Given the description of an element on the screen output the (x, y) to click on. 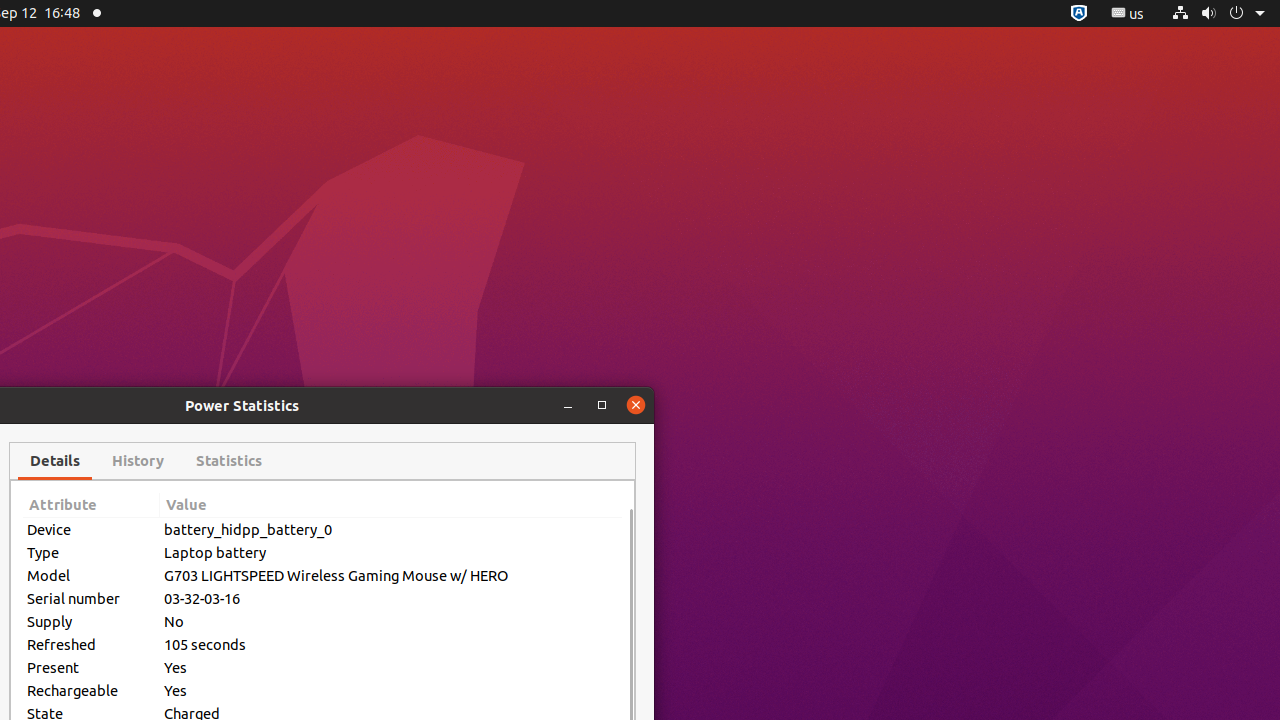
battery_hidpp_battery_0 Element type: table-cell (391, 529)
No Element type: table-cell (391, 621)
Supply Element type: table-cell (91, 621)
Present Element type: table-cell (91, 667)
Type Element type: table-cell (91, 552)
